Given the description of an element on the screen output the (x, y) to click on. 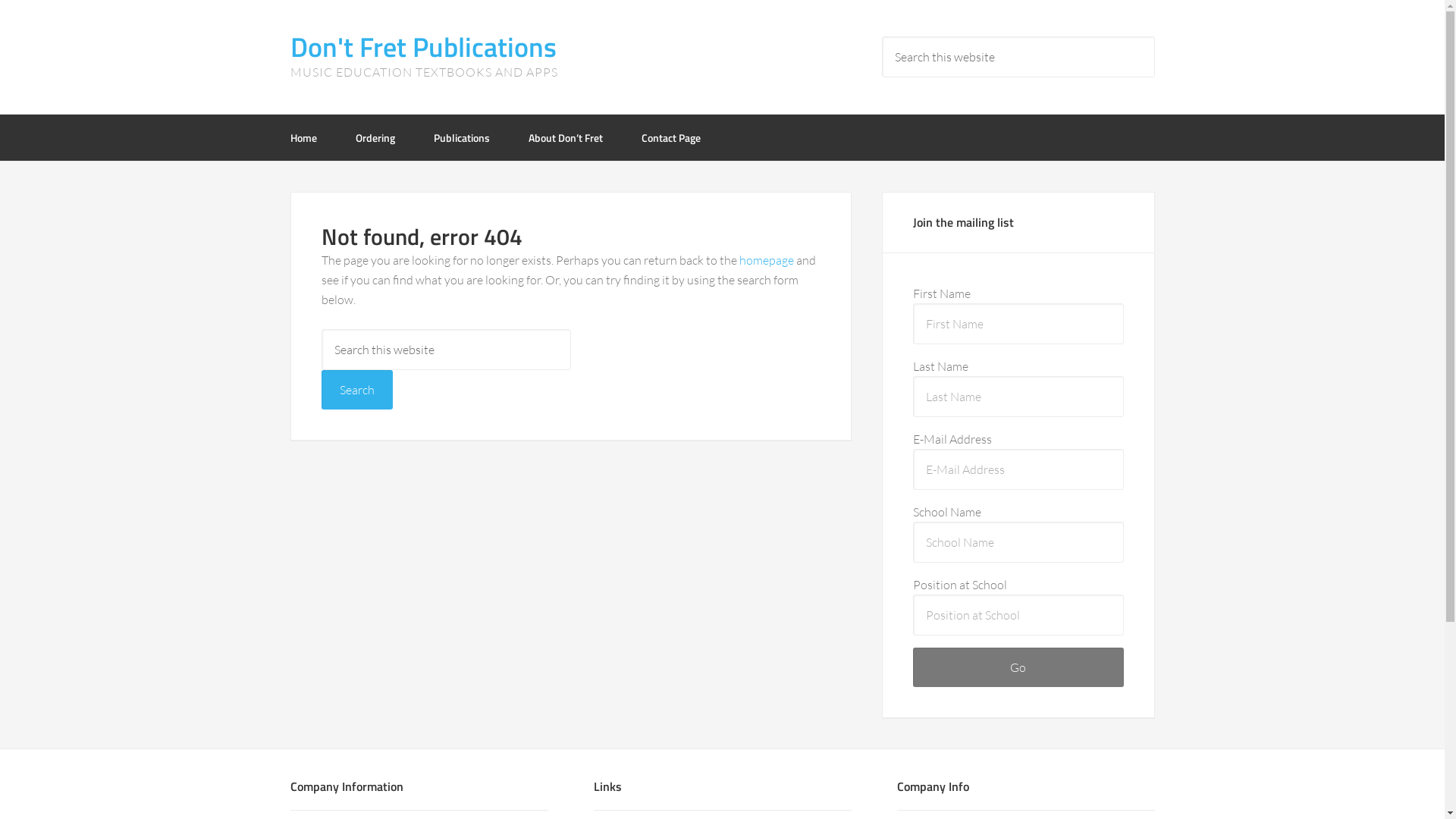
Go Element type: text (1018, 667)
Ordering Element type: text (374, 137)
Search Element type: text (1154, 35)
Home Element type: text (311, 137)
homepage Element type: text (765, 259)
Contact Page Element type: text (661, 137)
Publications Element type: text (461, 137)
Search Element type: text (356, 389)
Don't Fret Publications Element type: text (422, 46)
